Given the description of an element on the screen output the (x, y) to click on. 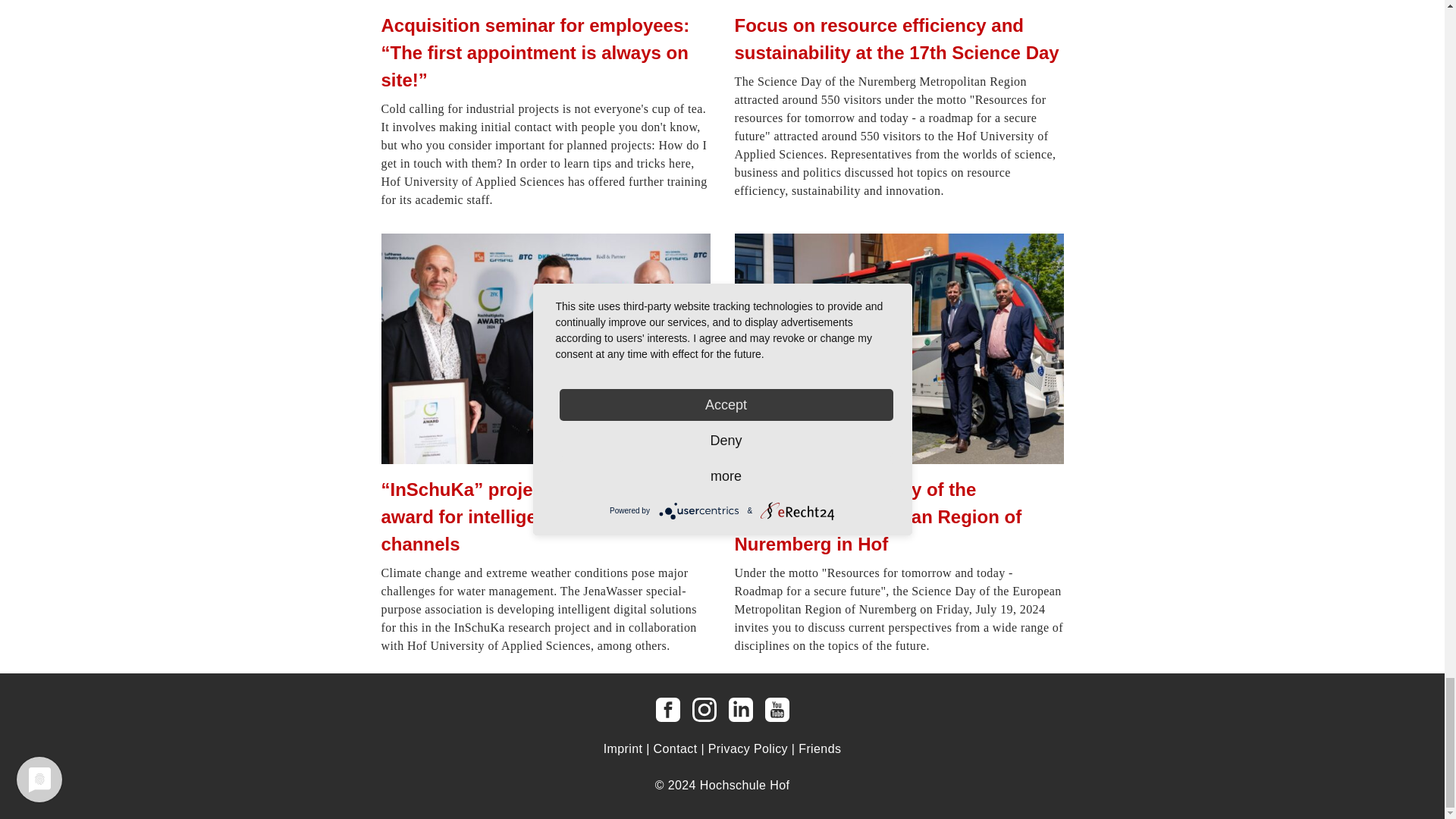
Imprint (623, 748)
Privacy Policy (747, 748)
Contact (675, 748)
Friends (819, 748)
